Given the description of an element on the screen output the (x, y) to click on. 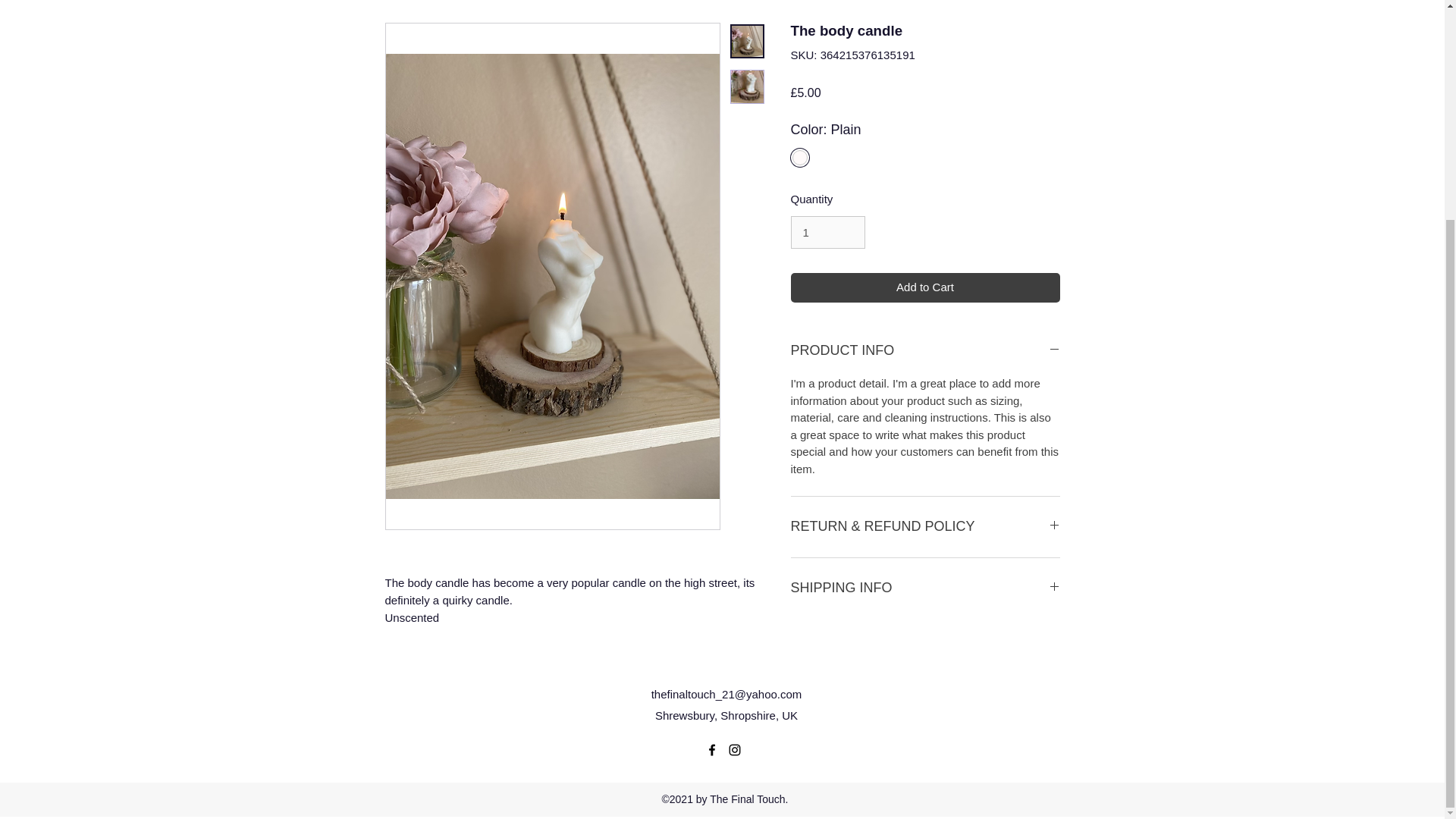
1 (827, 232)
Add to Cart (924, 287)
PRODUCT INFO (924, 351)
SHIPPING INFO (924, 588)
